Given the description of an element on the screen output the (x, y) to click on. 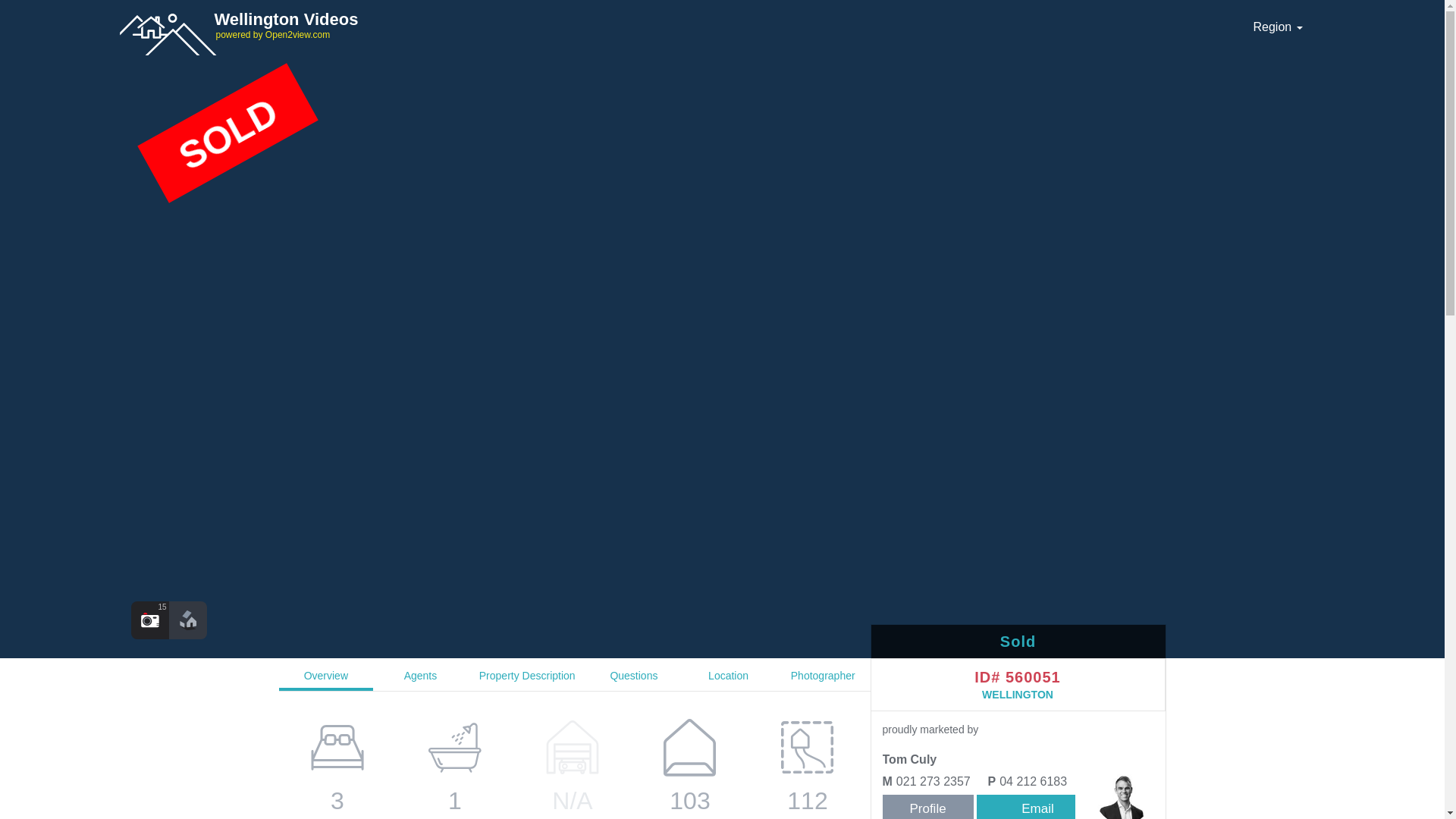
Wellington Videos (676, 24)
